Given the description of an element on the screen output the (x, y) to click on. 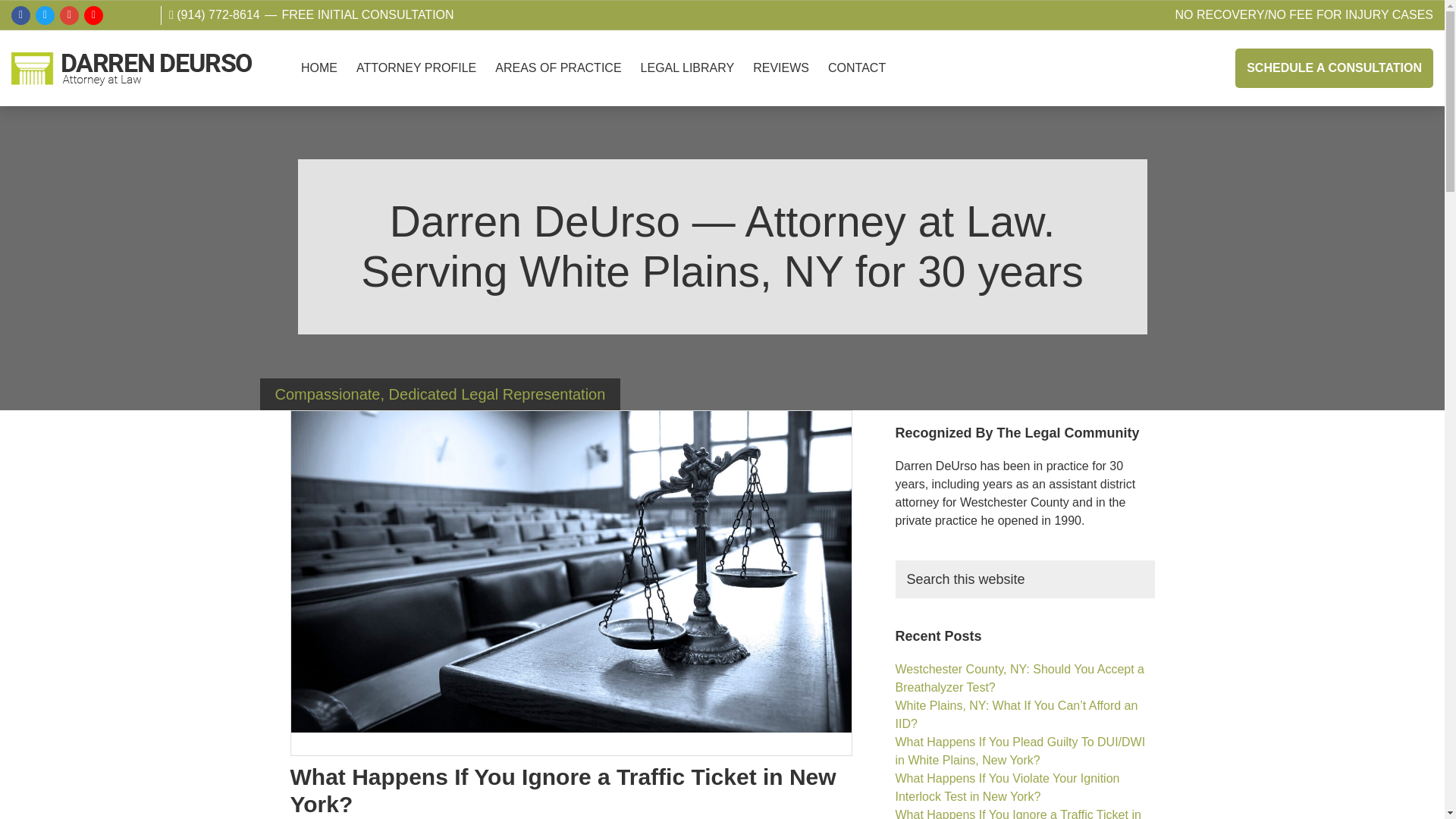
AREAS OF PRACTICE (557, 83)
MARTINDALE (116, 22)
LAWYERS.COM (141, 22)
HOME (319, 83)
LEGAL LIBRARY (687, 83)
ATTORNEY PROFILE (416, 83)
Darren DeUrso (38, 117)
